Given the description of an element on the screen output the (x, y) to click on. 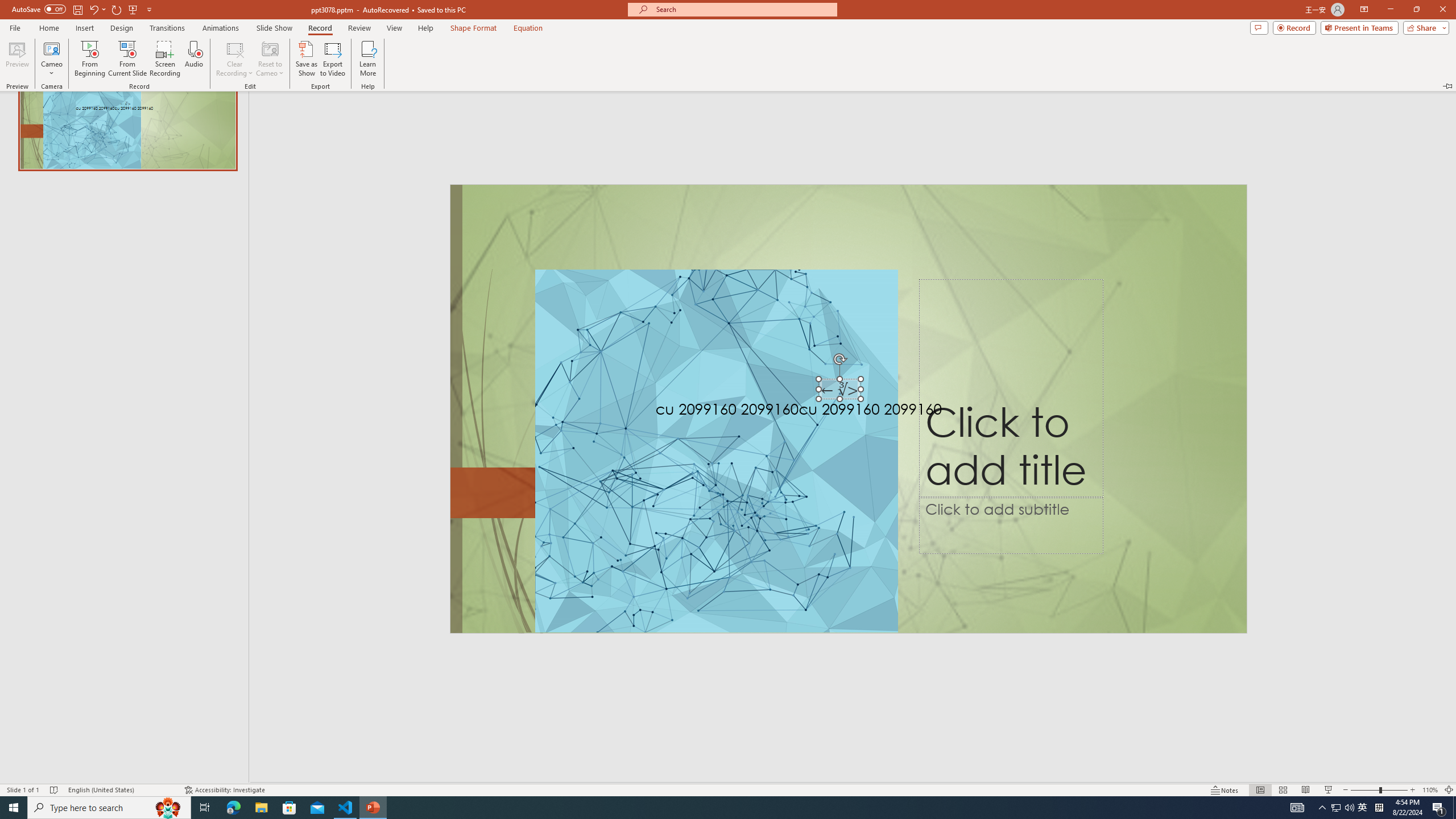
User Promoted Notification Area (1342, 807)
Show desktop (1335, 807)
Visual Studio Code - 1 running window (1454, 807)
Microsoft search (345, 807)
Equation (742, 9)
Action Center, 1 new notification (528, 28)
Microsoft Store (1439, 807)
